Given the description of an element on the screen output the (x, y) to click on. 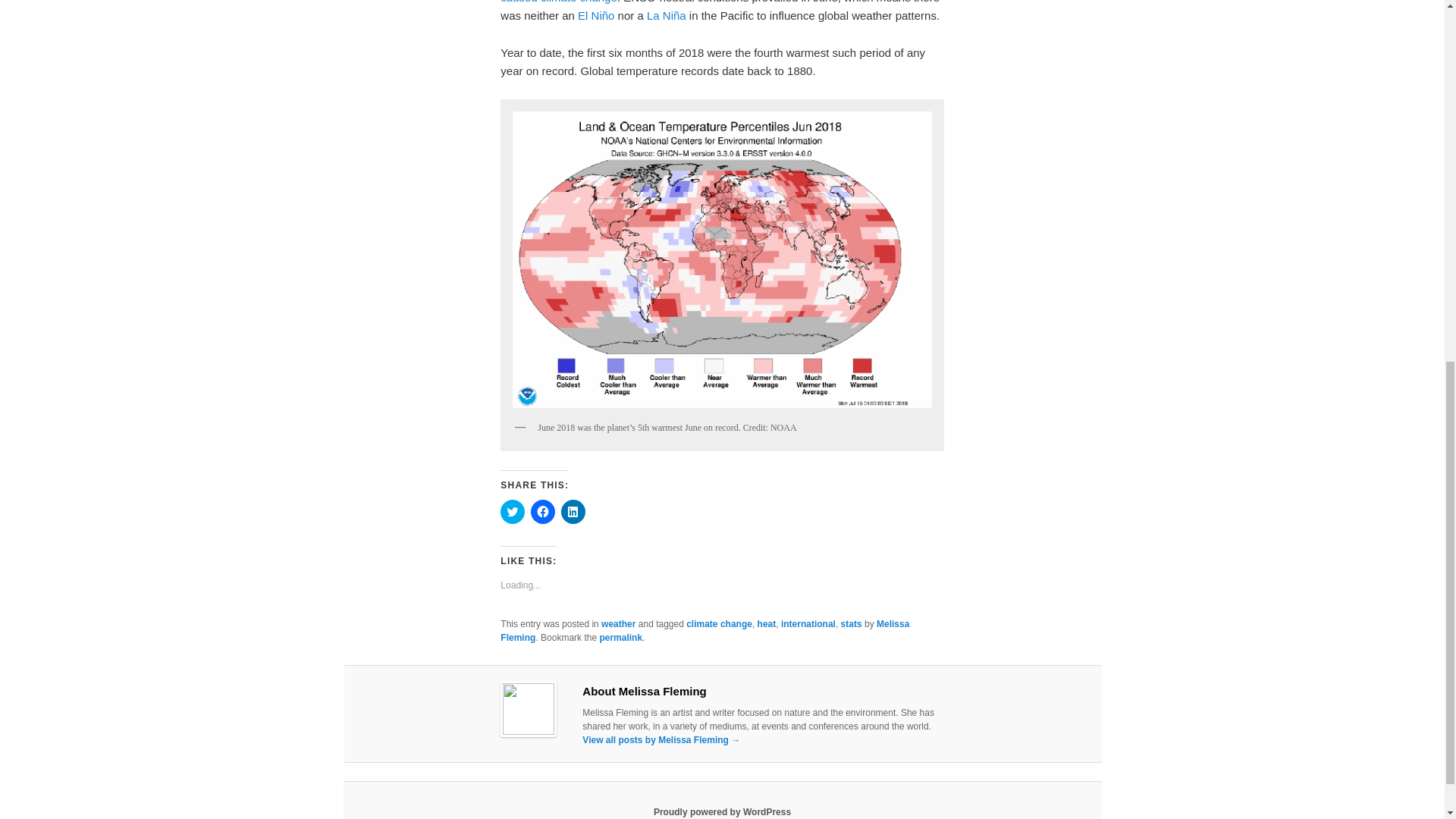
Click to share on LinkedIn (572, 511)
heat (766, 624)
Proudly powered by WordPress (721, 811)
permalink (620, 637)
Melissa Fleming (704, 630)
stats (851, 624)
Semantic Personal Publishing Platform (721, 811)
international (807, 624)
climate change (718, 624)
Click to share on Facebook (542, 511)
Click to share on Twitter (512, 511)
weather (617, 624)
